Given the description of an element on the screen output the (x, y) to click on. 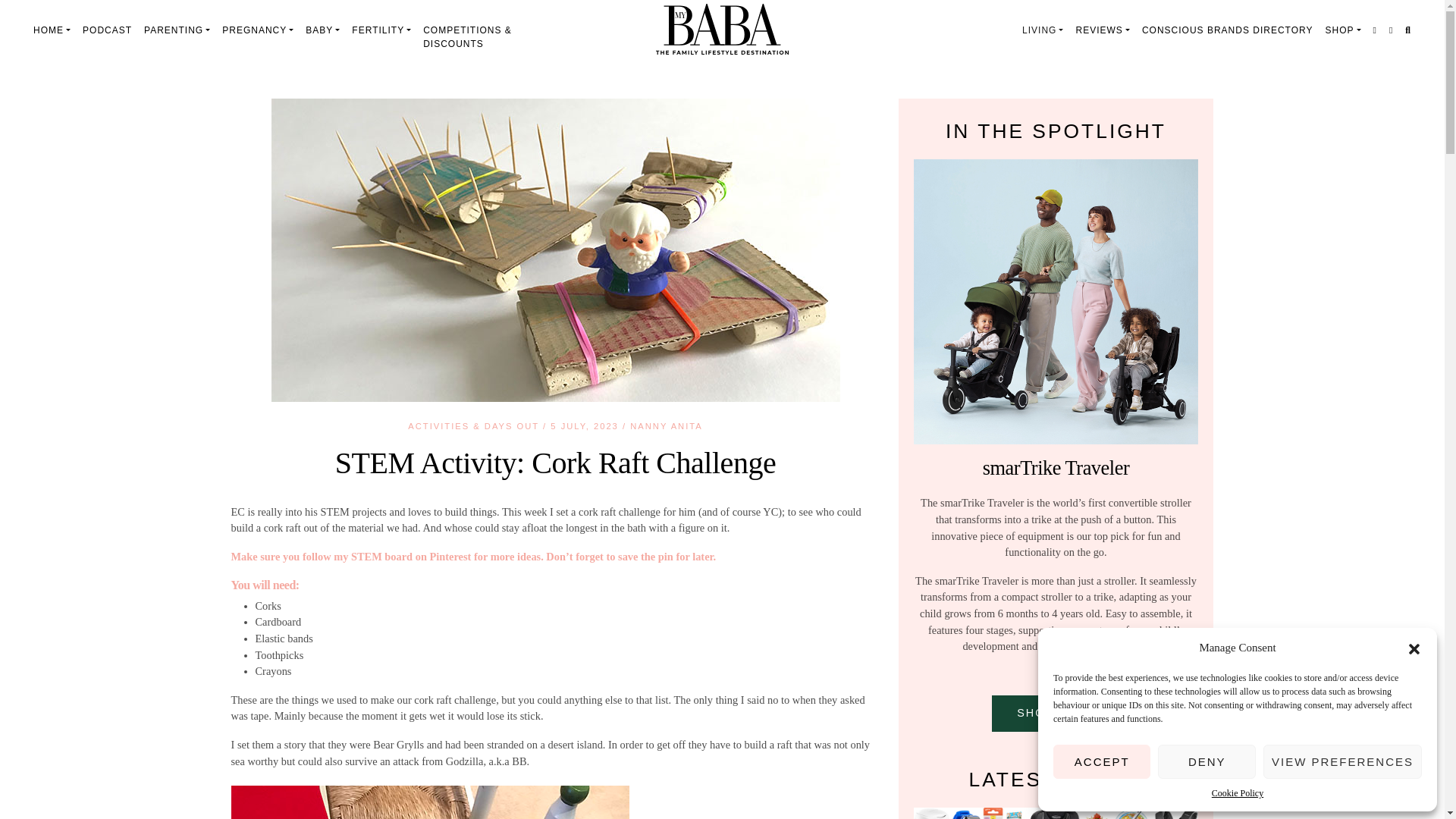
DENY (1206, 761)
HOME (52, 30)
BABY (322, 30)
PREGNANCY (257, 30)
Cookie Policy (1237, 793)
PODCAST (107, 30)
PARENTING (176, 30)
ACCEPT (1101, 761)
VIEW PREFERENCES (1342, 761)
